Given the description of an element on the screen output the (x, y) to click on. 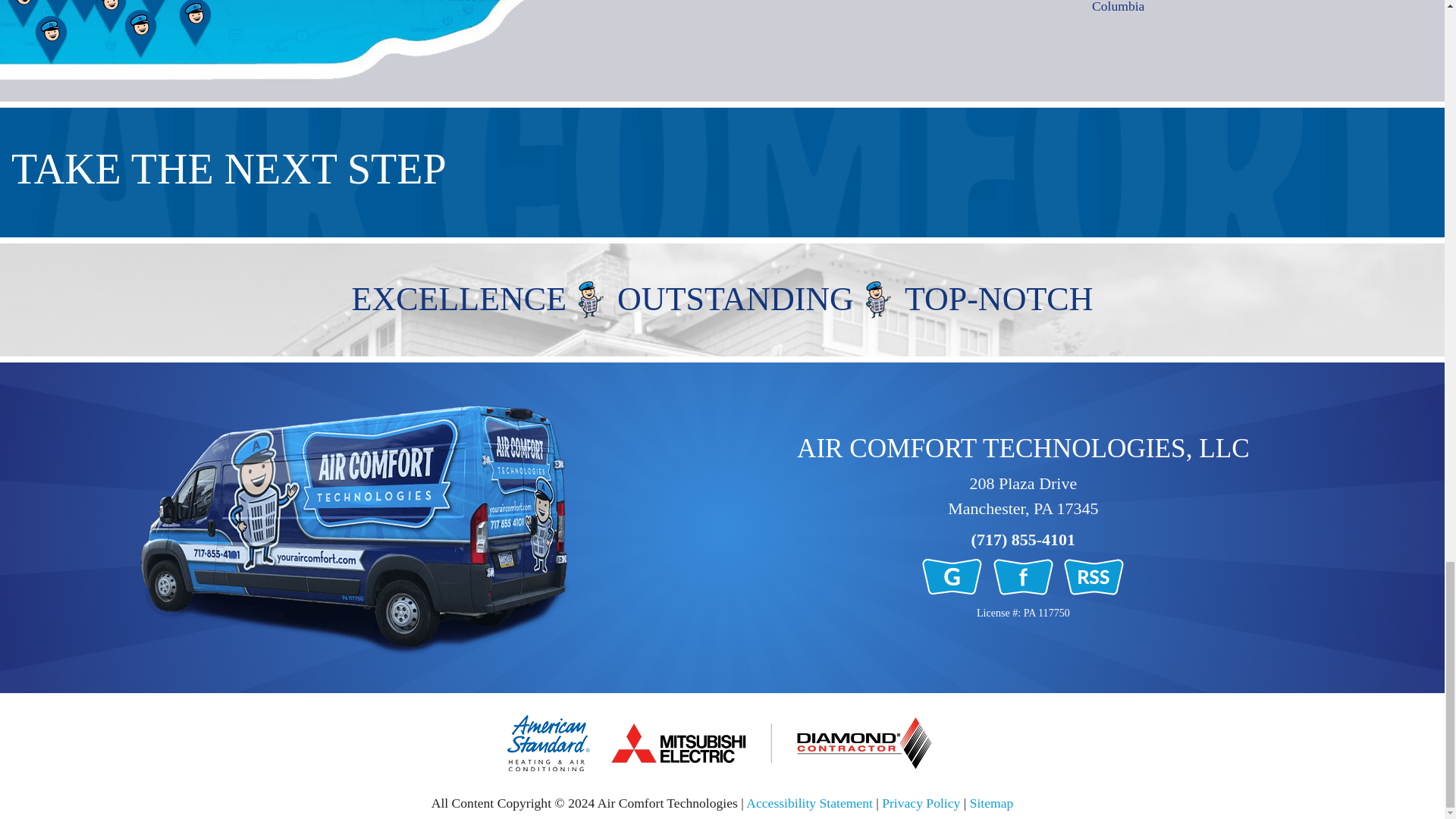
Follow Us on Google (953, 575)
Like Us on Facebook (1024, 575)
Subscribe to Us (1093, 575)
